Given the description of an element on the screen output the (x, y) to click on. 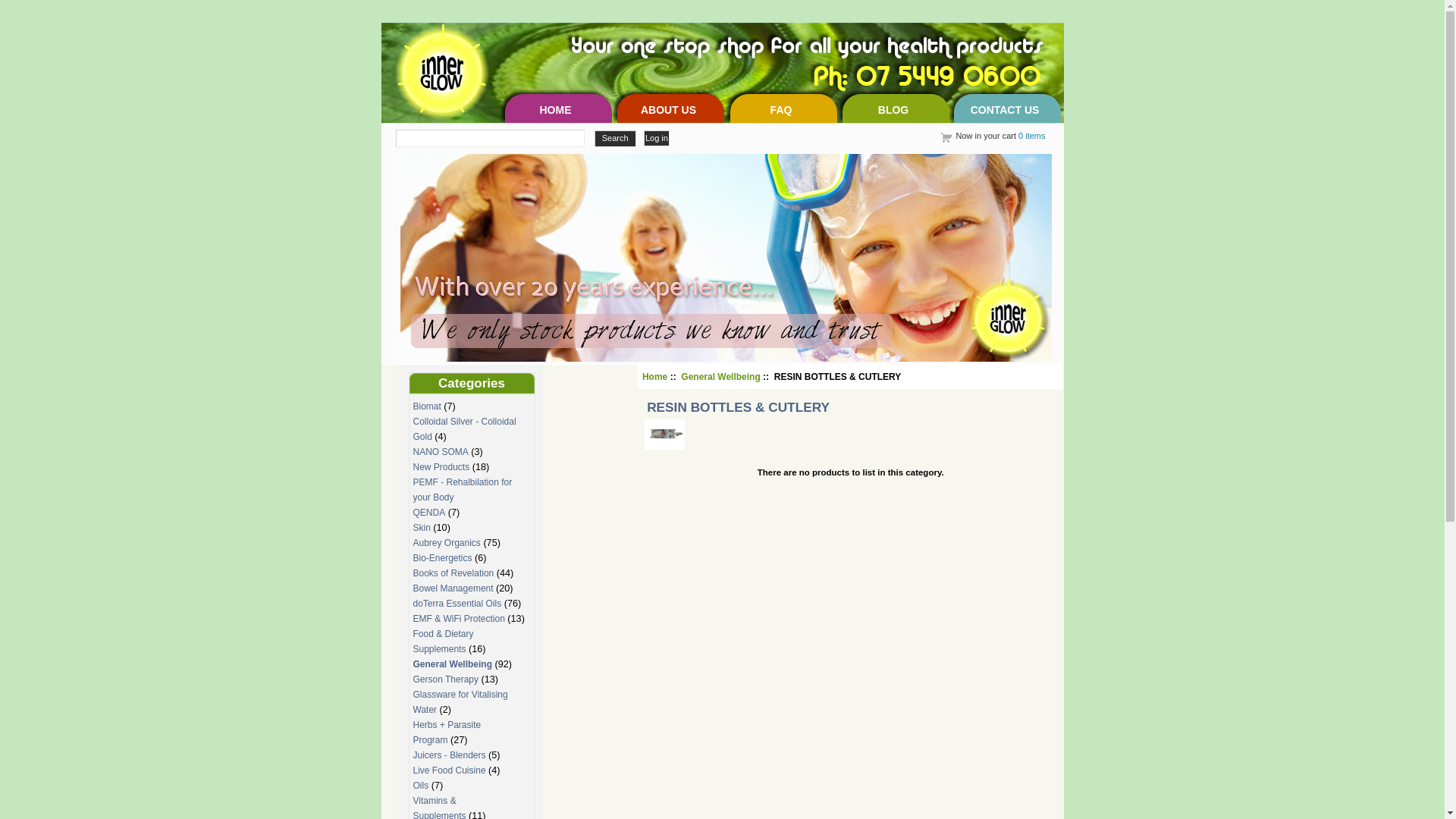
Books of Revelation Element type: text (452, 572)
FAQ Element type: text (780, 105)
HOME Element type: text (555, 105)
New Products Element type: text (440, 466)
ABOUT US Element type: text (668, 105)
Oils Element type: text (420, 785)
0 items Element type: text (1031, 135)
PEMF - Rehalbilation for your Body Element type: text (461, 489)
Juicers - Blenders Element type: text (448, 754)
Bio-Energetics Element type: text (441, 557)
Live Food Cuisine Element type: text (448, 770)
Skin Element type: text (420, 527)
Gerson Therapy Element type: text (445, 679)
General Wellbeing Element type: text (451, 663)
Food & Dietary Supplements Element type: text (442, 641)
doTerra Essential Oils Element type: text (456, 603)
Bowel Management Element type: text (452, 588)
EMF & WiFi Protection Element type: text (458, 618)
CONTACT US Element type: text (1004, 105)
NANO SOMA Element type: text (439, 451)
Home Element type: text (654, 376)
General Wellbeing Element type: text (719, 376)
Colloidal Silver - Colloidal Gold Element type: text (463, 429)
Herbs + Parasite Program Element type: text (446, 732)
Search Element type: text (615, 138)
QENDA Element type: text (428, 512)
Glassware for Vitalising Water Element type: text (459, 702)
Aubrey Organics Element type: text (446, 542)
Biomat Element type: text (426, 406)
BLOG Element type: text (892, 105)
